Given the description of an element on the screen output the (x, y) to click on. 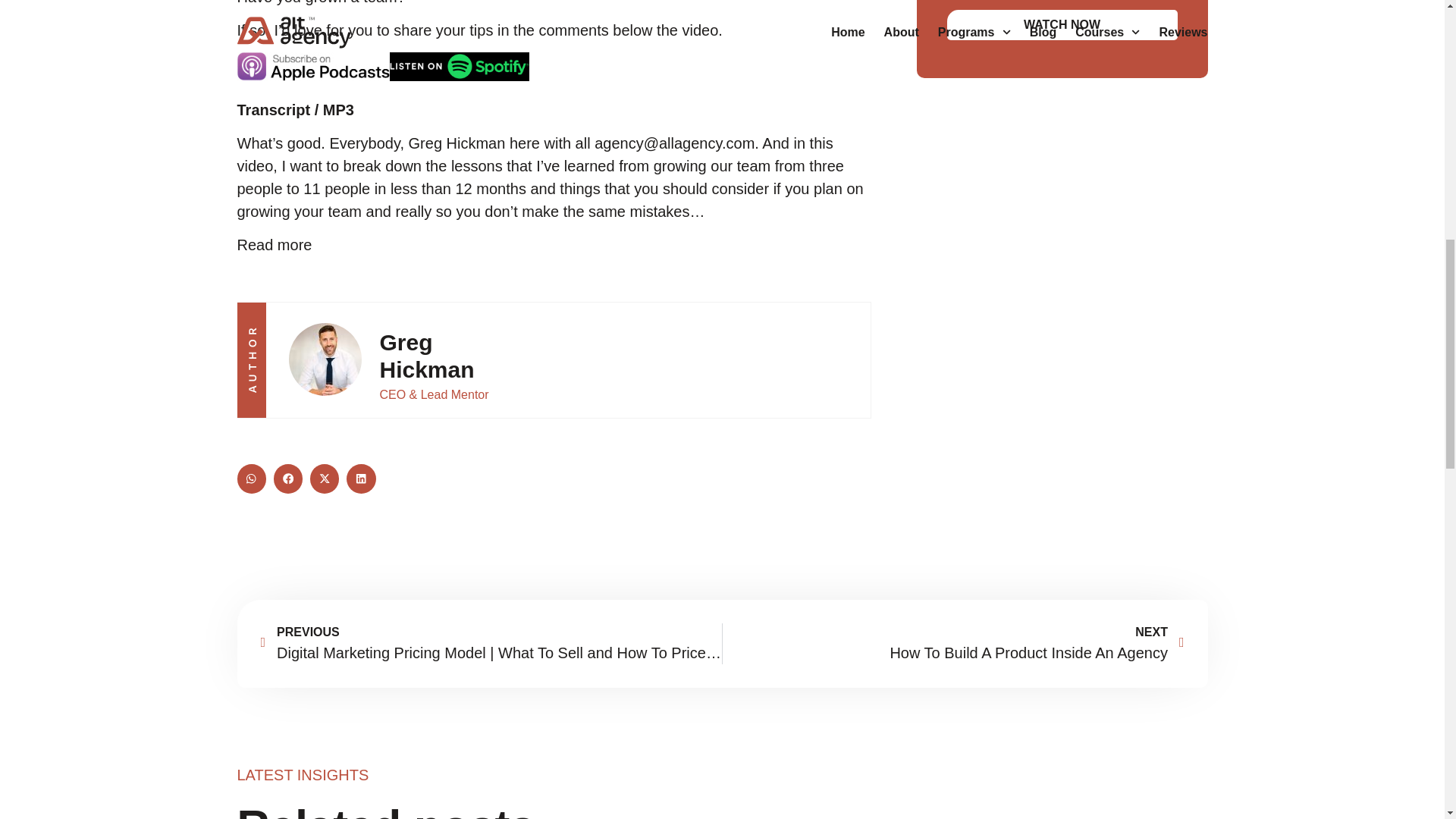
Greg Hickman (324, 358)
spotify (459, 66)
